Given the description of an element on the screen output the (x, y) to click on. 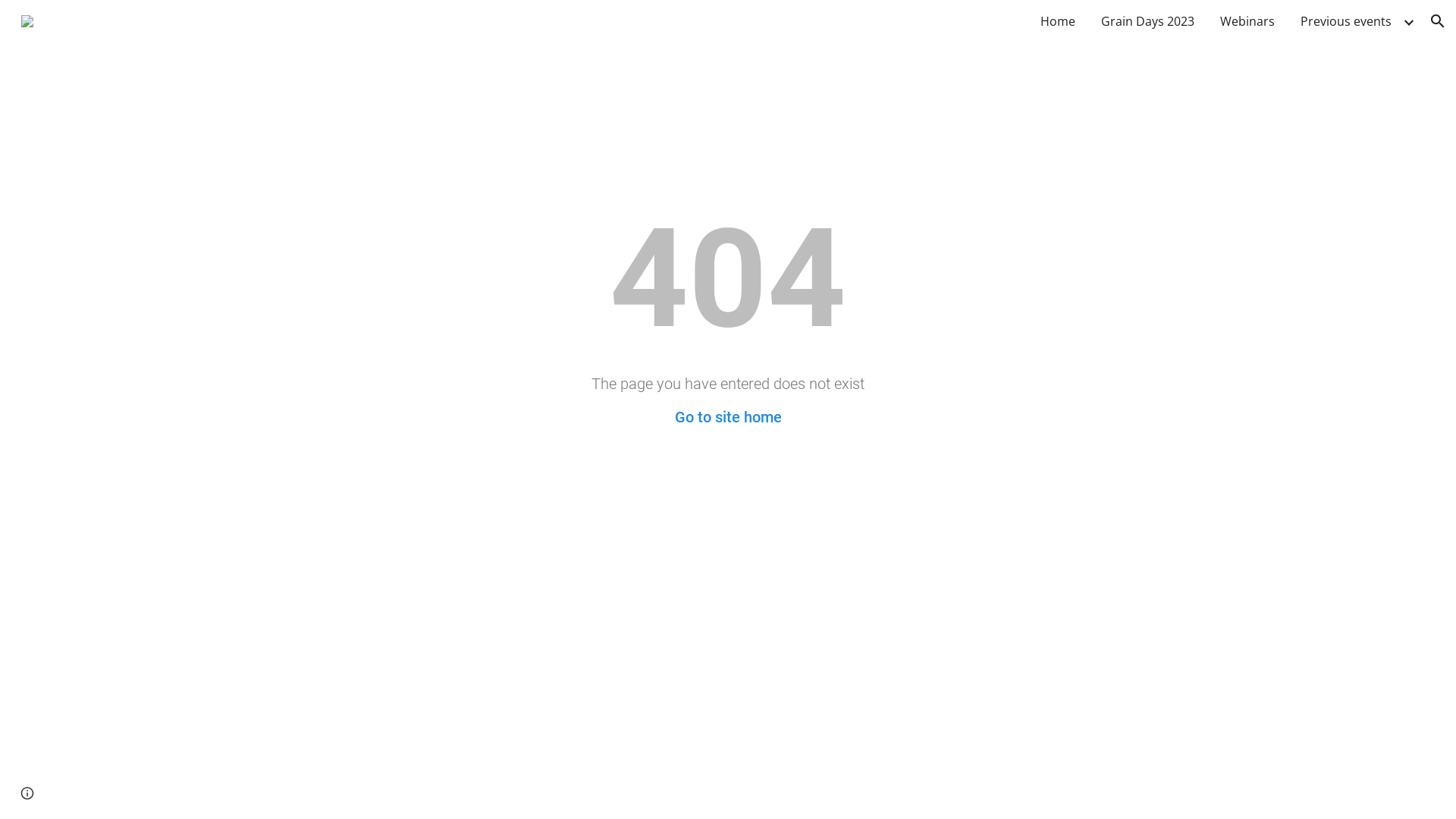
Grain Days 2023 Element type: text (1147, 20)
Expand/Collapse Element type: hover (1408, 20)
Previous events Element type: text (1345, 20)
Webinars Element type: text (1247, 20)
Go to site home Element type: text (727, 416)
Home Element type: text (1057, 20)
